Given the description of an element on the screen output the (x, y) to click on. 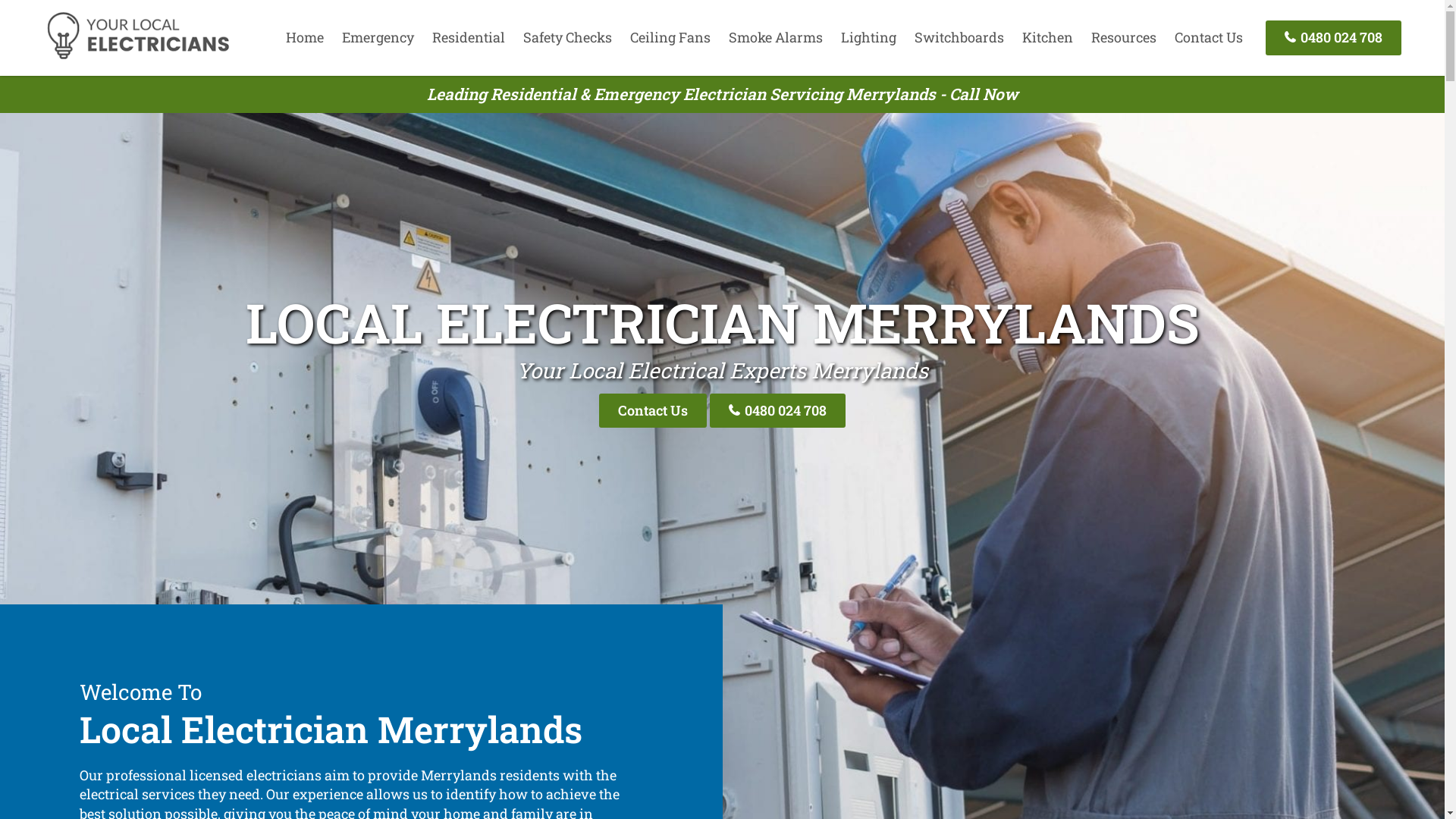
Contact Us Element type: text (652, 410)
0480 024 708 Element type: text (777, 410)
Switchboards Element type: text (958, 37)
Lighting Element type: text (868, 37)
0480 024 708 Element type: text (1333, 37)
Kitchen Element type: text (1047, 37)
Emergency Element type: text (377, 37)
Home Element type: text (304, 37)
Ceiling Fans Element type: text (670, 37)
Electricians Element type: hover (137, 56)
Safety Checks Element type: text (567, 37)
Resources Element type: text (1123, 37)
Residential Element type: text (468, 37)
Contact Us Element type: text (1208, 37)
Smoke Alarms Element type: text (775, 37)
